Given the description of an element on the screen output the (x, y) to click on. 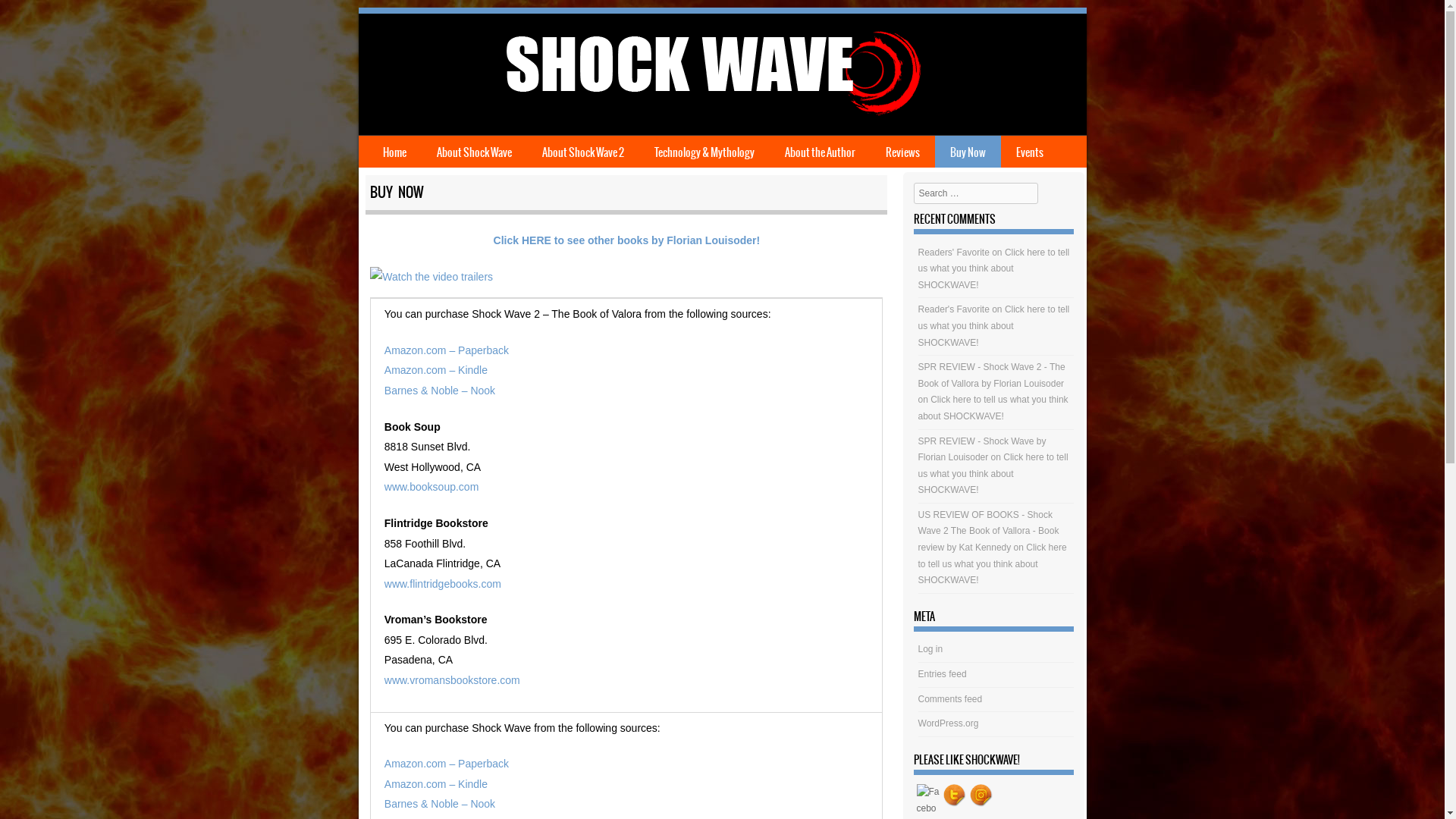
Click here to tell us what you think about SHOCKWAVE! Element type: text (994, 325)
Reviews Element type: text (902, 151)
About Shock Wave Element type: text (474, 151)
www.booksoup.com Element type: text (431, 486)
Buy Now Element type: text (967, 151)
Entries feed Element type: text (942, 673)
Instagram Element type: hover (980, 795)
Skip to content Element type: text (389, 145)
Click here to tell us what you think about SHOCKWAVE! Element type: text (993, 473)
Click here to tell us what you think about SHOCKWAVE! Element type: text (992, 563)
SHOCKWAVE Element type: hover (709, 113)
Click here to tell us what you think about SHOCKWAVE! Element type: text (993, 407)
WordPress.org Element type: text (948, 723)
Comments feed Element type: text (950, 698)
Events Element type: text (1029, 151)
About the Author Element type: text (818, 151)
Click HERE to see other books by Florian Louisoder! Element type: text (626, 240)
Home Element type: text (393, 151)
Search Element type: text (33, 17)
Click here to tell us what you think about SHOCKWAVE! Element type: text (994, 268)
www.flintridgebooks.com Element type: text (442, 583)
Technology & Mythology Element type: text (703, 151)
About Shock Wave 2 Element type: text (582, 151)
Log in Element type: text (930, 648)
www.vromansbookstore.com Element type: text (452, 680)
Twitter Element type: hover (954, 795)
